Given the description of an element on the screen output the (x, y) to click on. 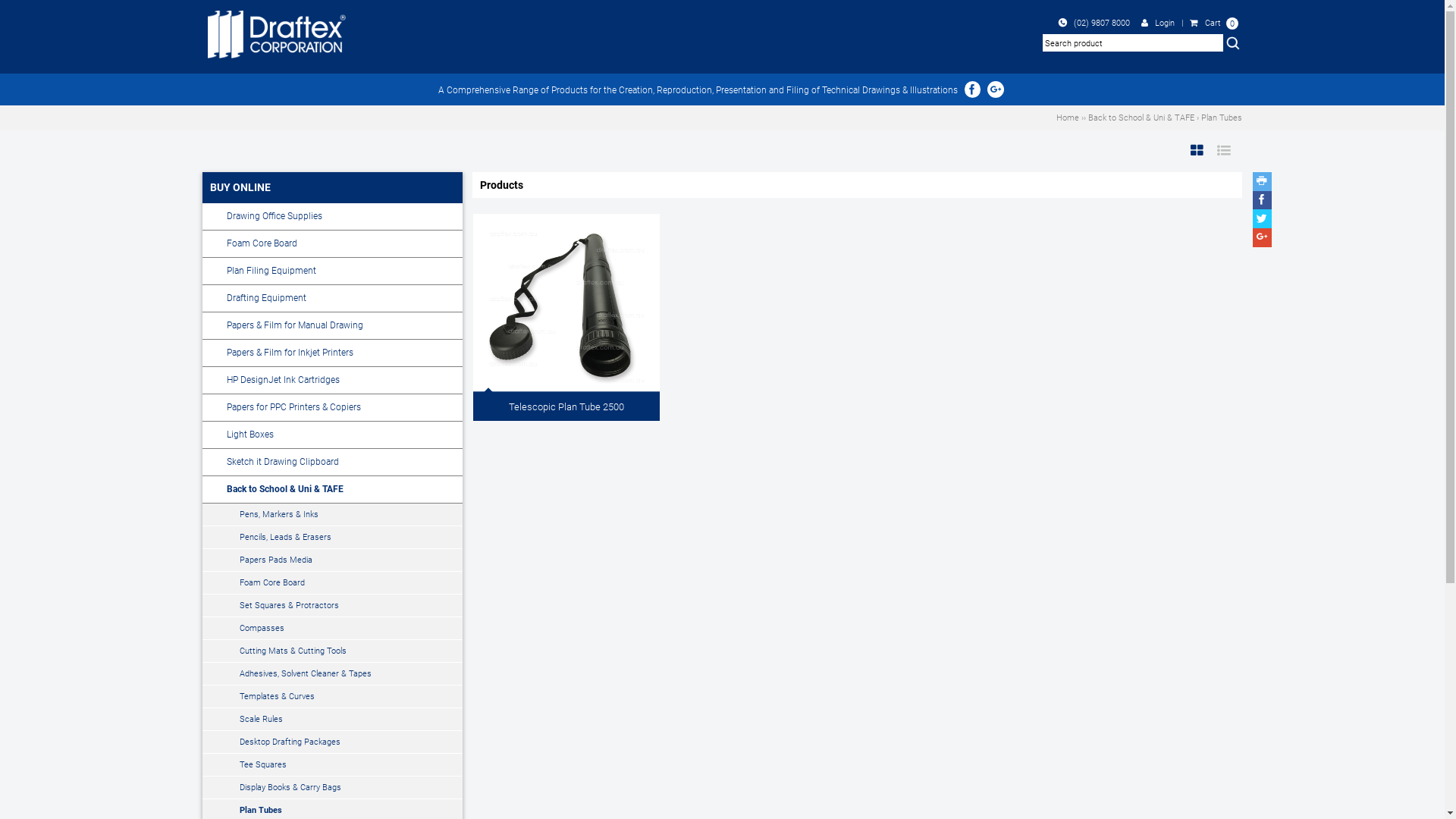
Back to School & Uni & TAFE Element type: text (1141, 117)
Adhesives, Solvent Cleaner & Tapes Element type: text (332, 673)
Pencils, Leads & Erasers Element type: text (332, 537)
Drawing Office Supplies Element type: text (332, 216)
Papers Pads Media Element type: text (332, 560)
Pens, Markers & Inks Element type: text (332, 514)
Papers for PPC Printers & Copiers Element type: text (332, 407)
Drafting Equipment Element type: text (332, 298)
Display Books & Carry Bags Element type: text (332, 787)
Papers & Film for Inkjet Printers Element type: text (332, 353)
Scale Rules Element type: text (332, 719)
Papers & Film for Manual Drawing Element type: text (332, 325)
Sketch it Drawing Clipboard Element type: text (332, 462)
Foam Core Board Element type: text (332, 582)
Print resource Element type: hover (1261, 181)
Plan Filing Equipment Element type: text (332, 271)
Facebook Share Element type: text (1261, 200)
Twitter Share Element type: text (1261, 218)
Print page Element type: hover (1261, 181)
Light Boxes Element type: text (332, 434)
Cutting Mats & Cutting Tools Element type: text (332, 651)
Plan Tubes Element type: text (1221, 117)
HP DesignJet Ink Cartridges Element type: text (332, 380)
Set Squares & Protractors Element type: text (332, 605)
Compasses Element type: text (332, 628)
Templates & Curves Element type: text (332, 696)
(02) 9807 8000 Element type: text (1094, 22)
Google Plus Share Element type: text (1261, 237)
Home Element type: text (1067, 117)
Back to School & Uni & TAFE Element type: text (332, 489)
Tee Squares Element type: text (332, 764)
Cart 0 Element type: text (1213, 22)
Desktop Drafting Packages Element type: text (332, 742)
Login Element type: text (1158, 22)
Foam Core Board Element type: text (332, 243)
